Given the description of an element on the screen output the (x, y) to click on. 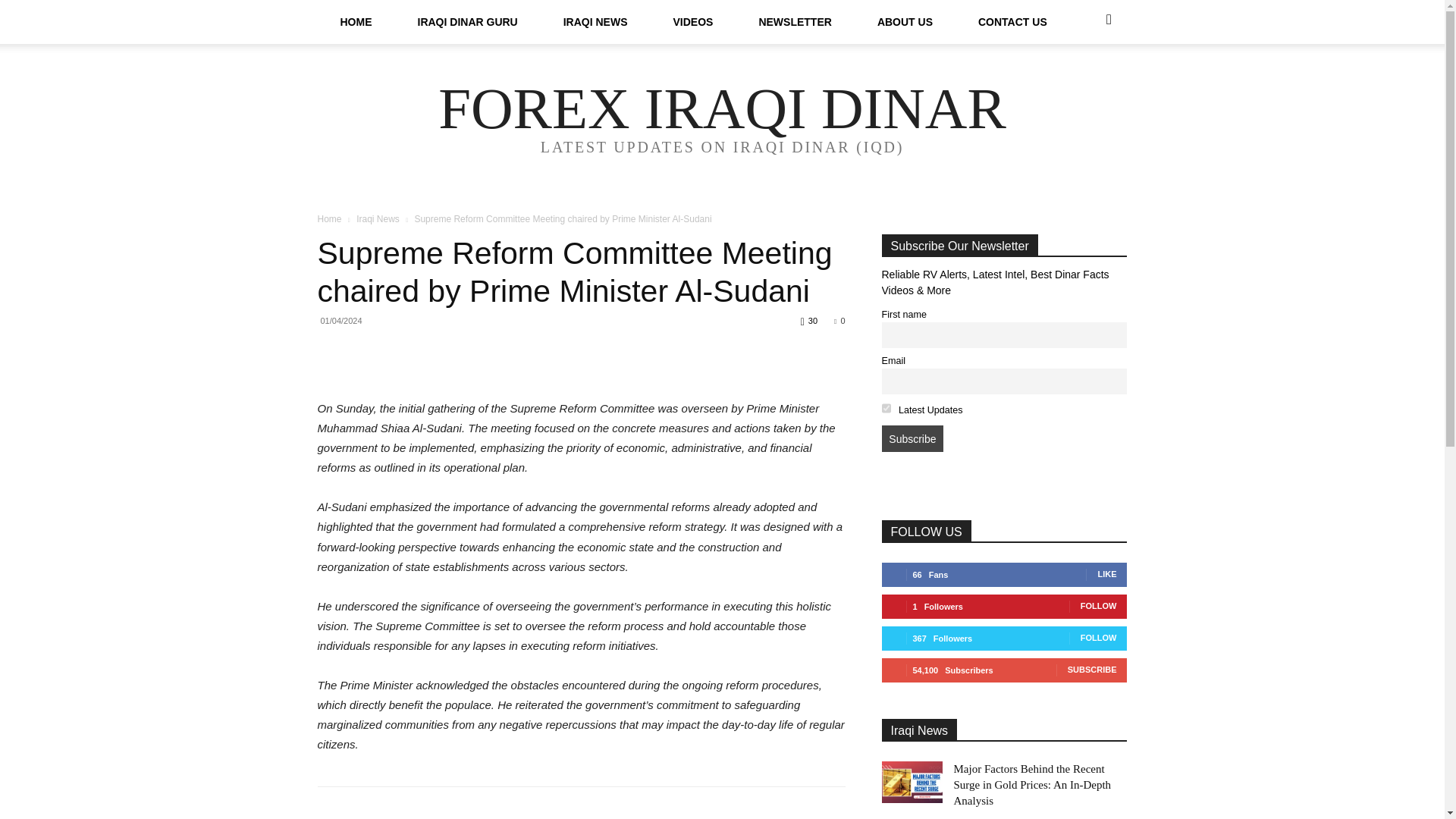
Search (1085, 81)
NEWSLETTER (794, 22)
HOME (355, 22)
0 (839, 320)
View all posts in Iraqi News (377, 218)
ABOUT US (904, 22)
IRAQI DINAR GURU (467, 22)
CONTACT US (1012, 22)
VIDEOS (693, 22)
Subscribe (911, 438)
